Given the description of an element on the screen output the (x, y) to click on. 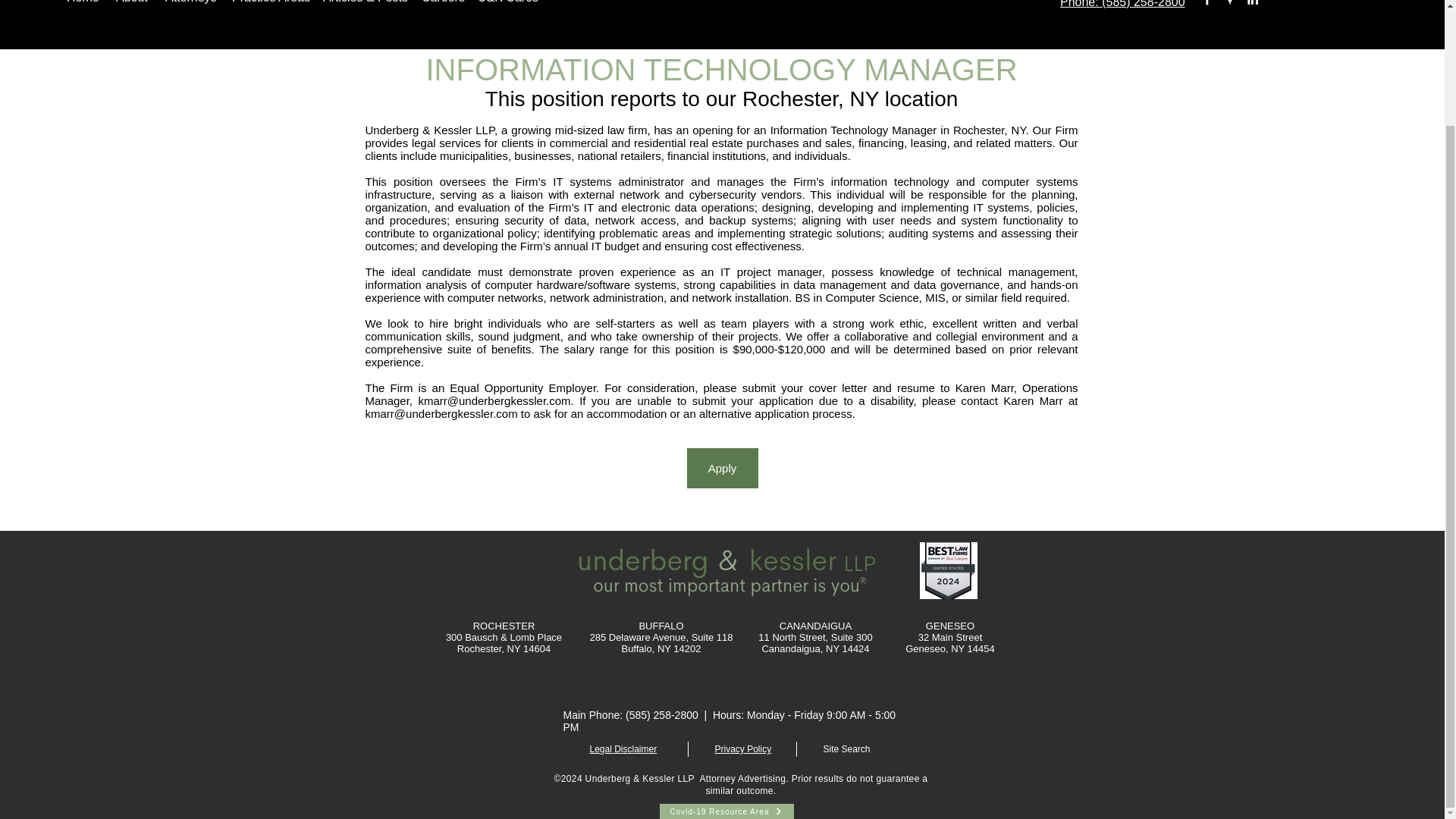
Home (83, 4)
2023 Best Law Firms.png (947, 570)
Attorneys (190, 4)
About (132, 4)
Practice Areas (269, 4)
